Given the description of an element on the screen output the (x, y) to click on. 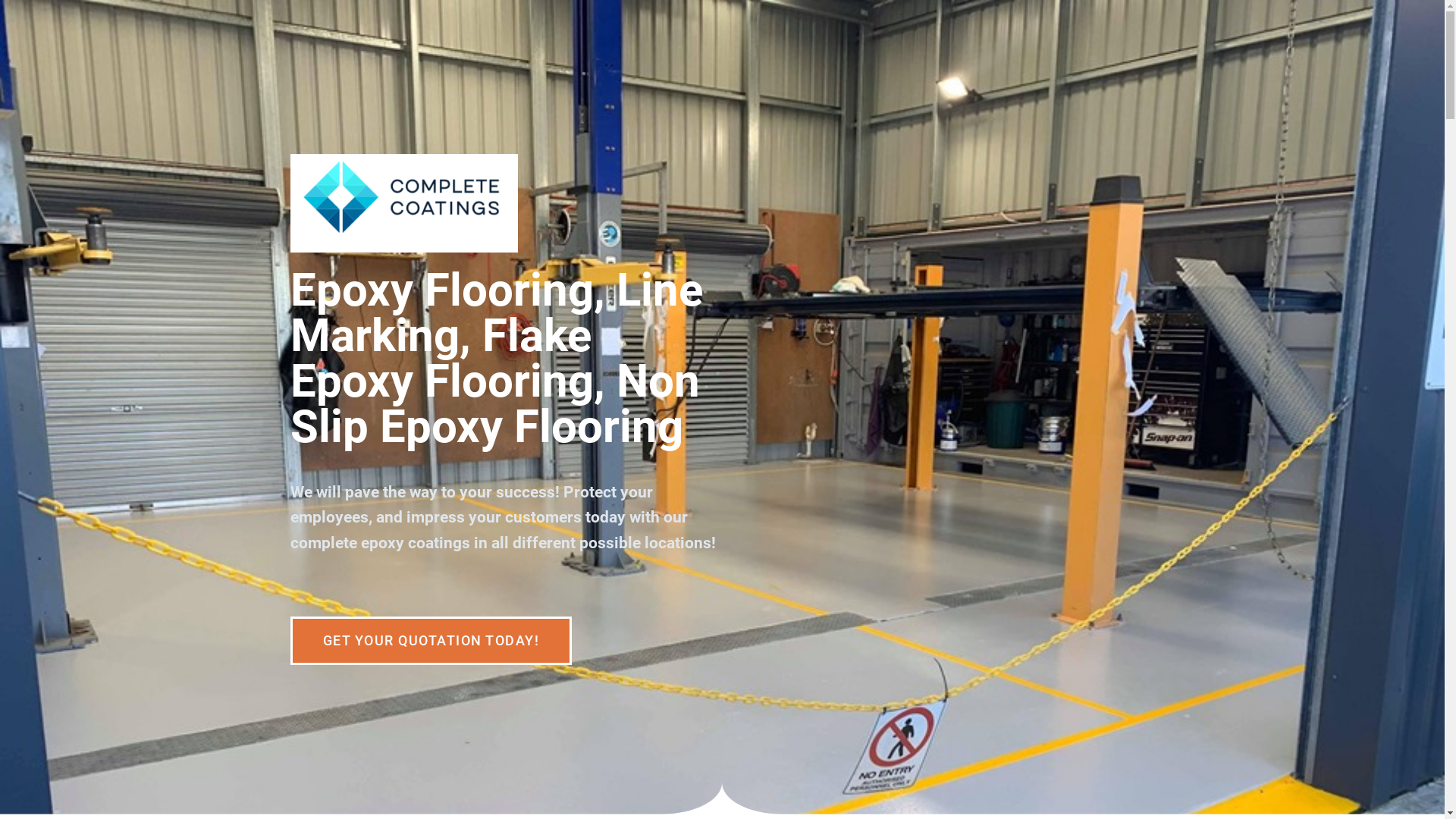
Home - Element type: hover (403, 202)
GET YOUR QUOTATION TODAY! Element type: text (430, 640)
